Given the description of an element on the screen output the (x, y) to click on. 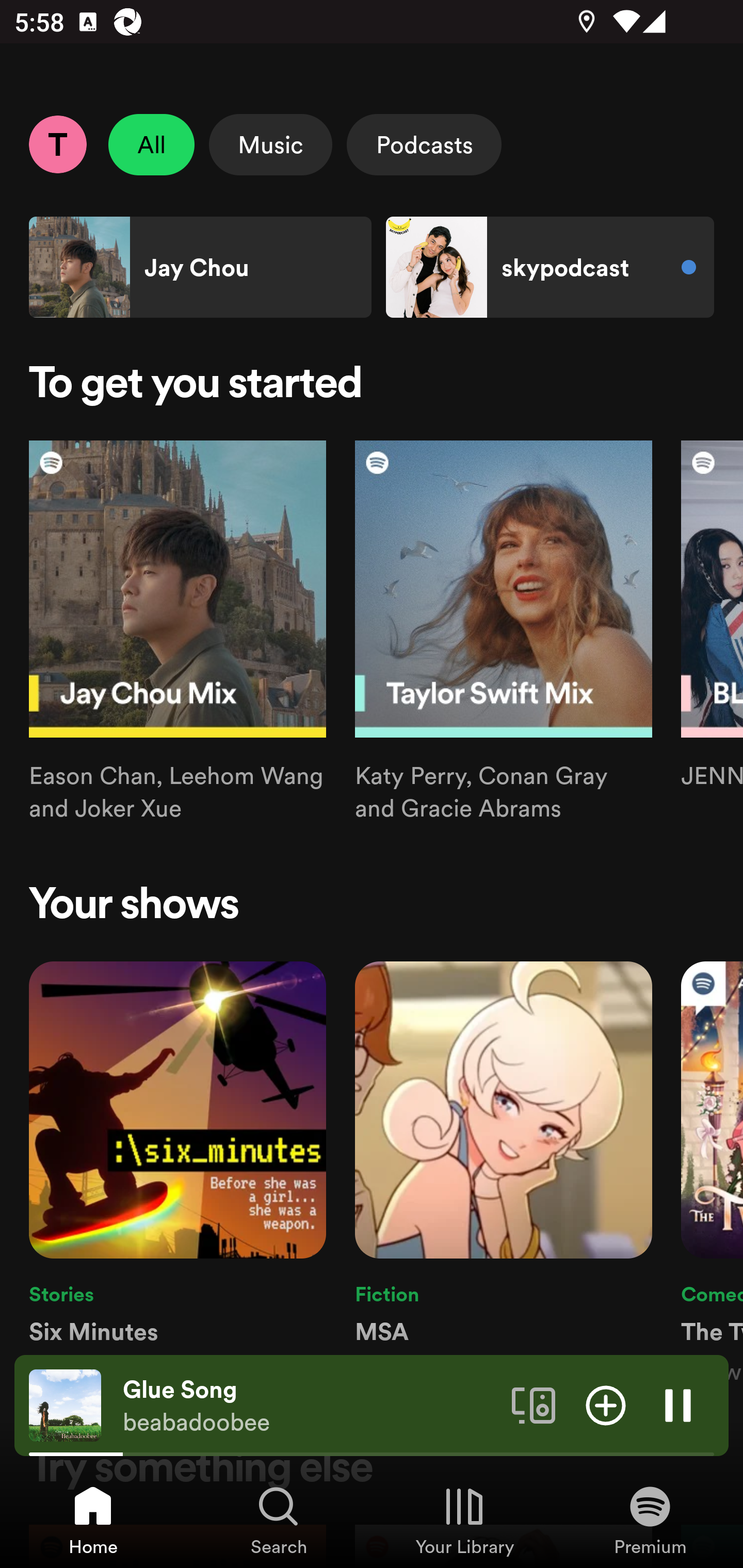
Profile (57, 144)
All Unselect All (151, 144)
Music Select Music (270, 144)
Podcasts Select Podcasts (423, 144)
Jay Chou Shortcut Jay Chou (199, 267)
skypodcast Shortcut skypodcast New content (549, 267)
Stories Six Minutes Show • GZM Shows (177, 1174)
Fiction MSA  Show • My Story Animated (503, 1174)
Glue Song beabadoobee (309, 1405)
The cover art of the currently playing track (64, 1404)
Connect to a device. Opens the devices menu (533, 1404)
Add item (605, 1404)
Pause (677, 1404)
Home, Tab 1 of 4 Home Home (92, 1519)
Search, Tab 2 of 4 Search Search (278, 1519)
Your Library, Tab 3 of 4 Your Library Your Library (464, 1519)
Premium, Tab 4 of 4 Premium Premium (650, 1519)
